Given the description of an element on the screen output the (x, y) to click on. 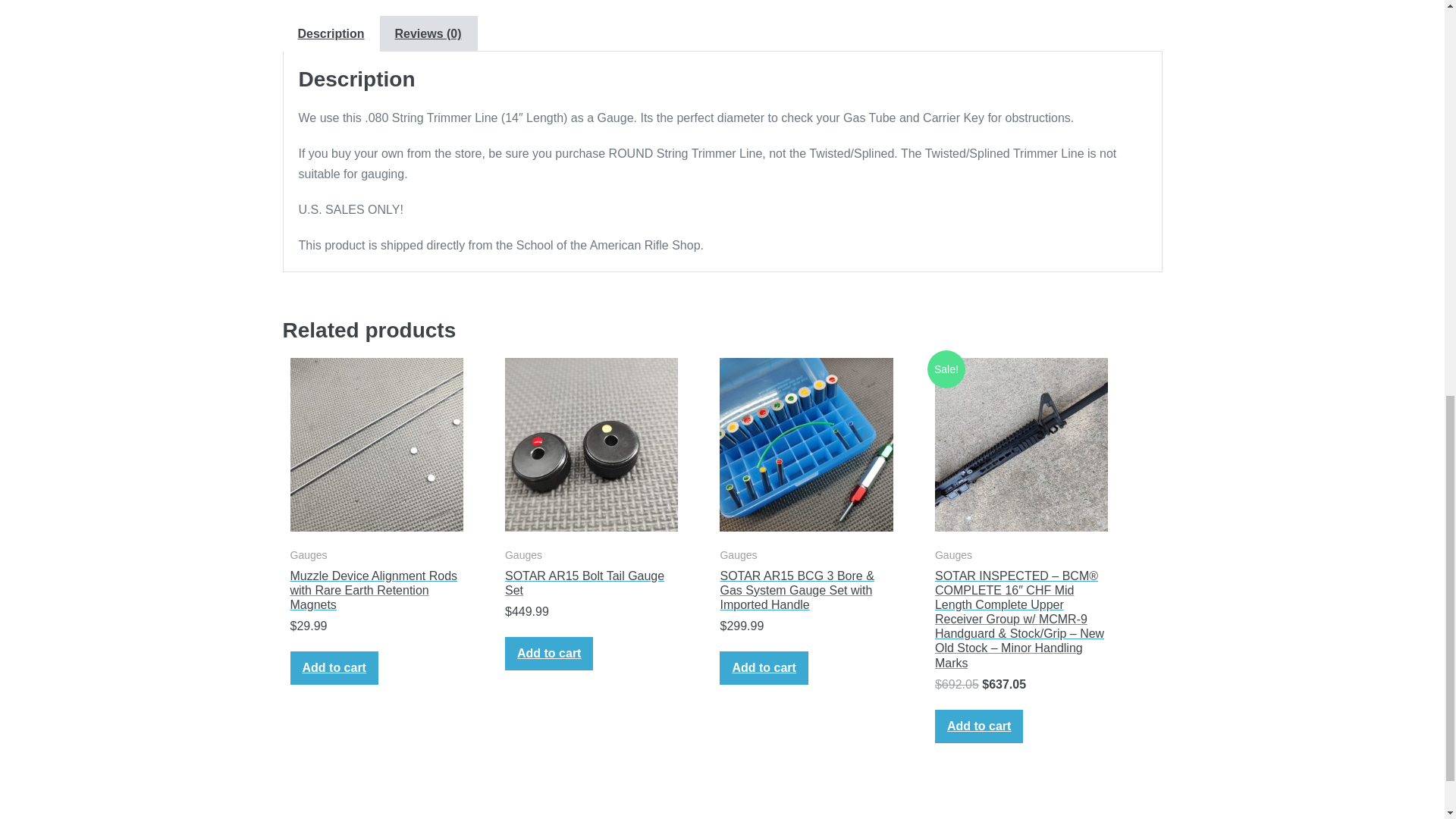
Add to cart (333, 667)
SOTAR AR15 Bolt Tail Gauge Set (591, 582)
Add to cart (978, 726)
Add to cart (763, 667)
Sale! (1021, 443)
Add to cart (548, 653)
Description (330, 33)
